Given the description of an element on the screen output the (x, y) to click on. 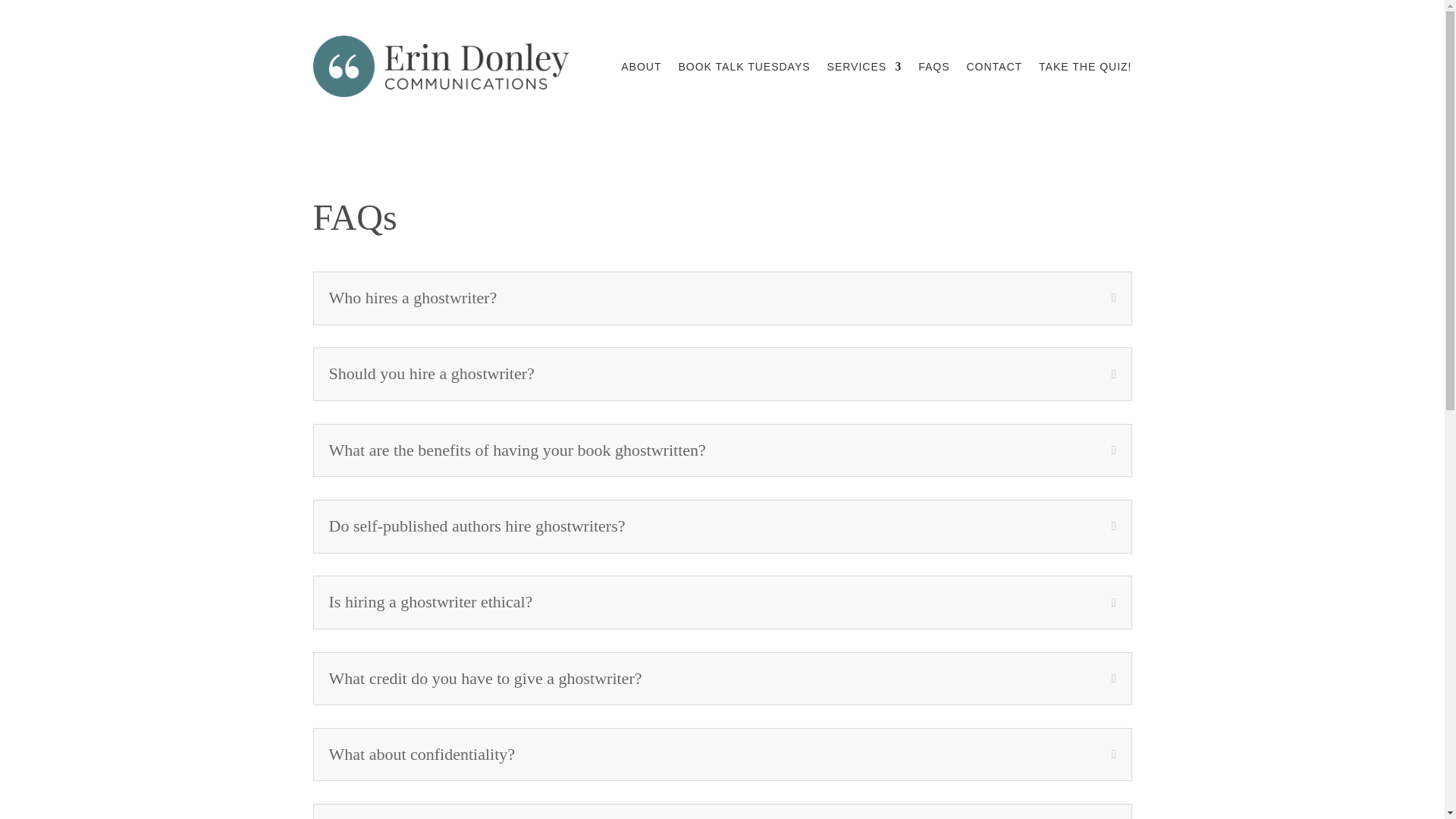
SERVICES (864, 66)
TAKE THE QUIZ! (1085, 66)
BOOK TALK TUESDAYS (743, 66)
CONTACT (994, 66)
